Given the description of an element on the screen output the (x, y) to click on. 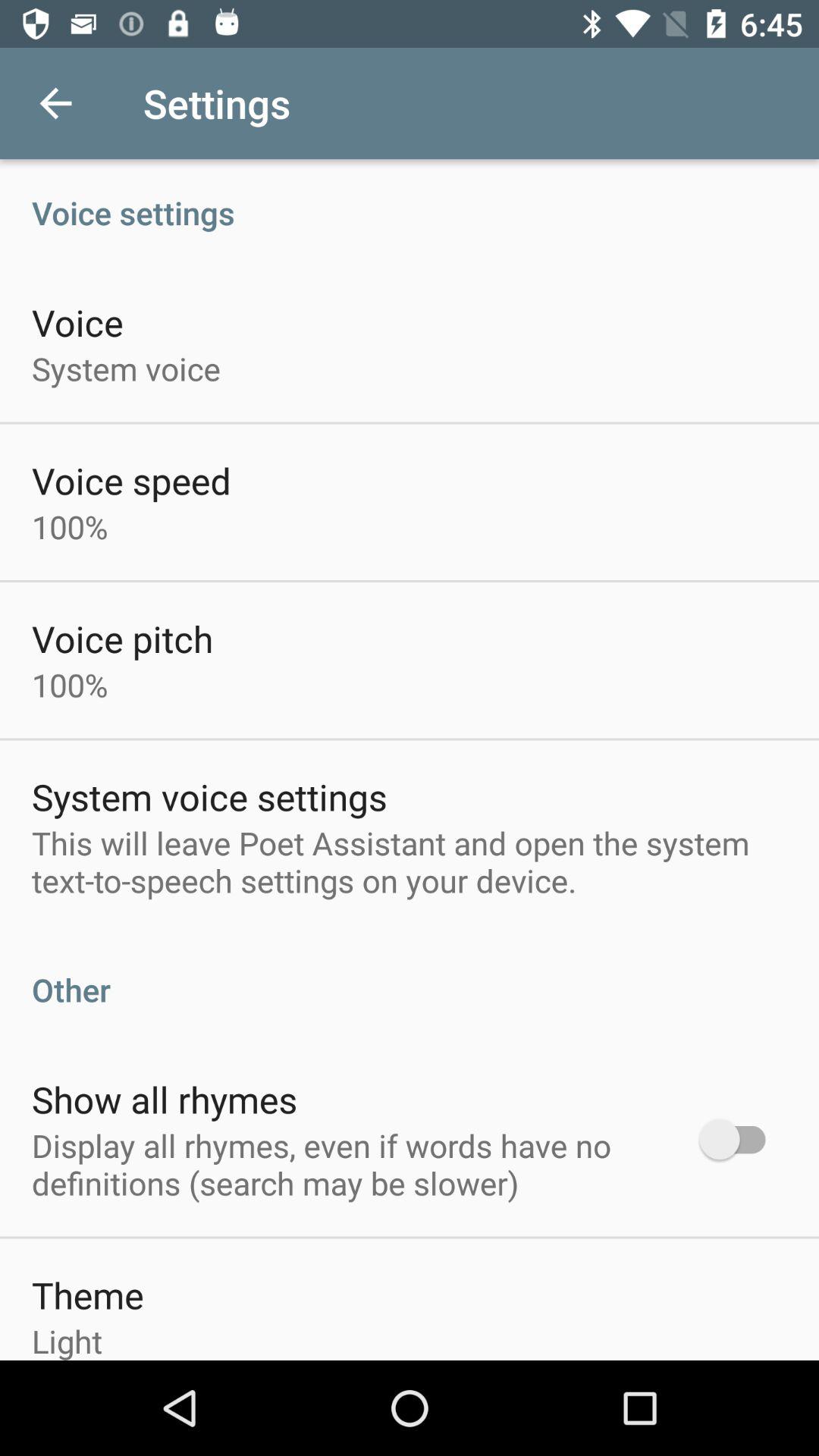
turn off icon above the voice settings item (55, 103)
